Given the description of an element on the screen output the (x, y) to click on. 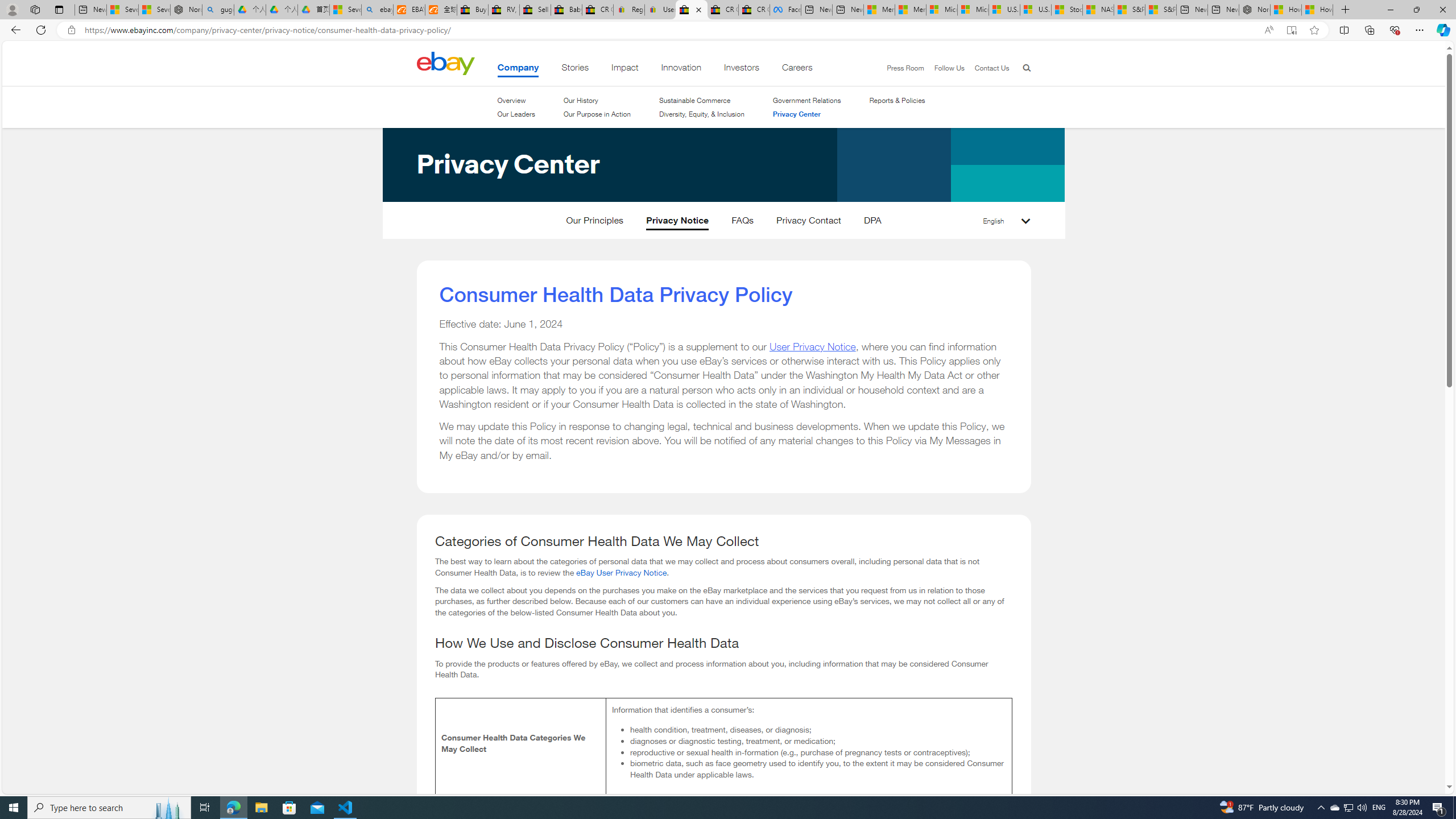
Stories (575, 69)
Innovation (681, 69)
Sustainable Commerce (694, 99)
Our History (596, 100)
Overview (515, 100)
Follow Us (943, 68)
Press Room (900, 68)
